Given the description of an element on the screen output the (x, y) to click on. 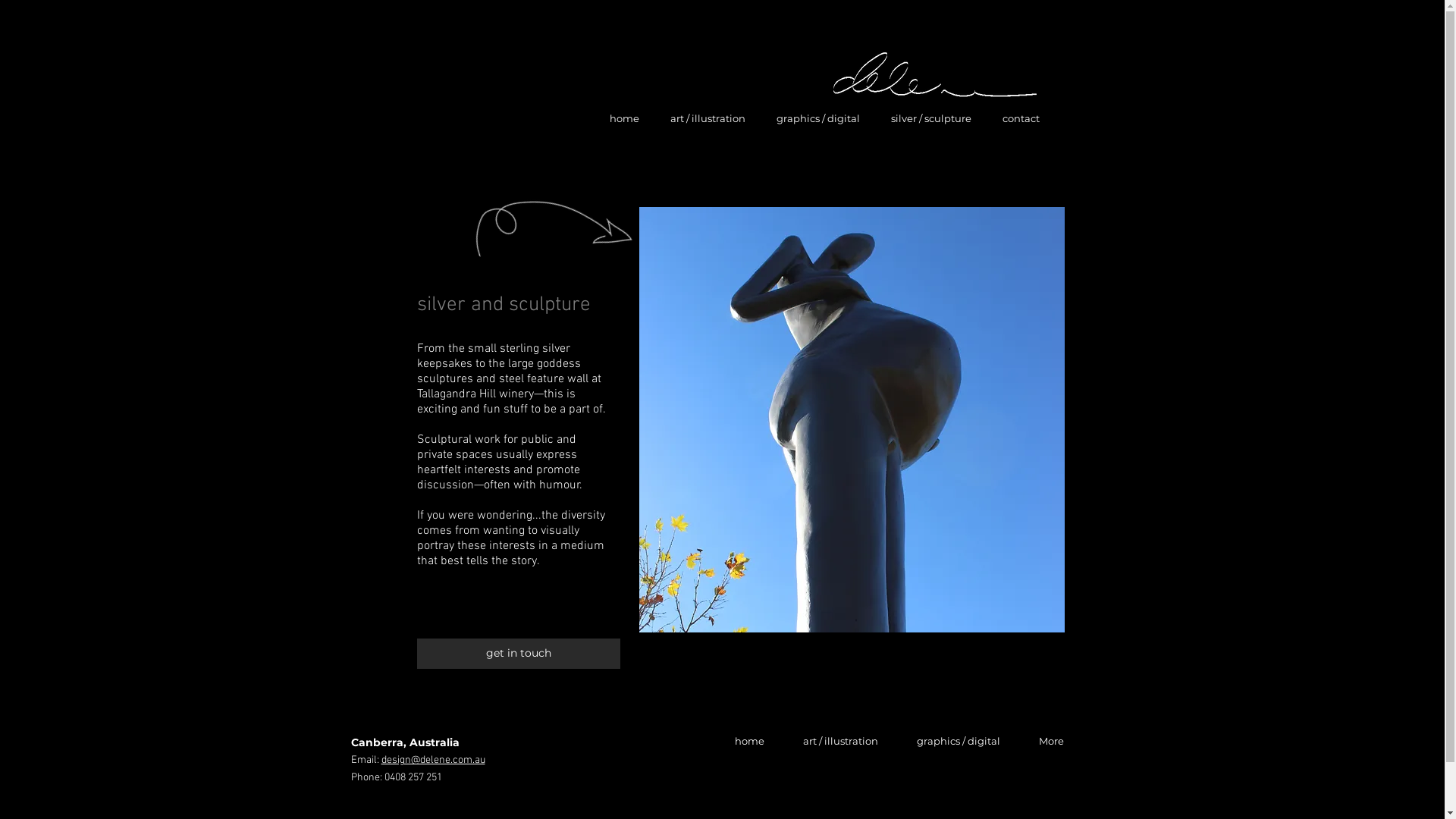
home Element type: text (748, 740)
contact Element type: text (1021, 118)
design@delene.com.au Element type: text (432, 759)
silver / sculpture Element type: text (930, 118)
home Element type: text (623, 118)
art / illustration Element type: text (840, 740)
graphics / digital Element type: text (958, 740)
graphics / digital Element type: text (818, 118)
art / illustration Element type: text (708, 118)
get in touch Element type: text (518, 653)
